Given the description of an element on the screen output the (x, y) to click on. 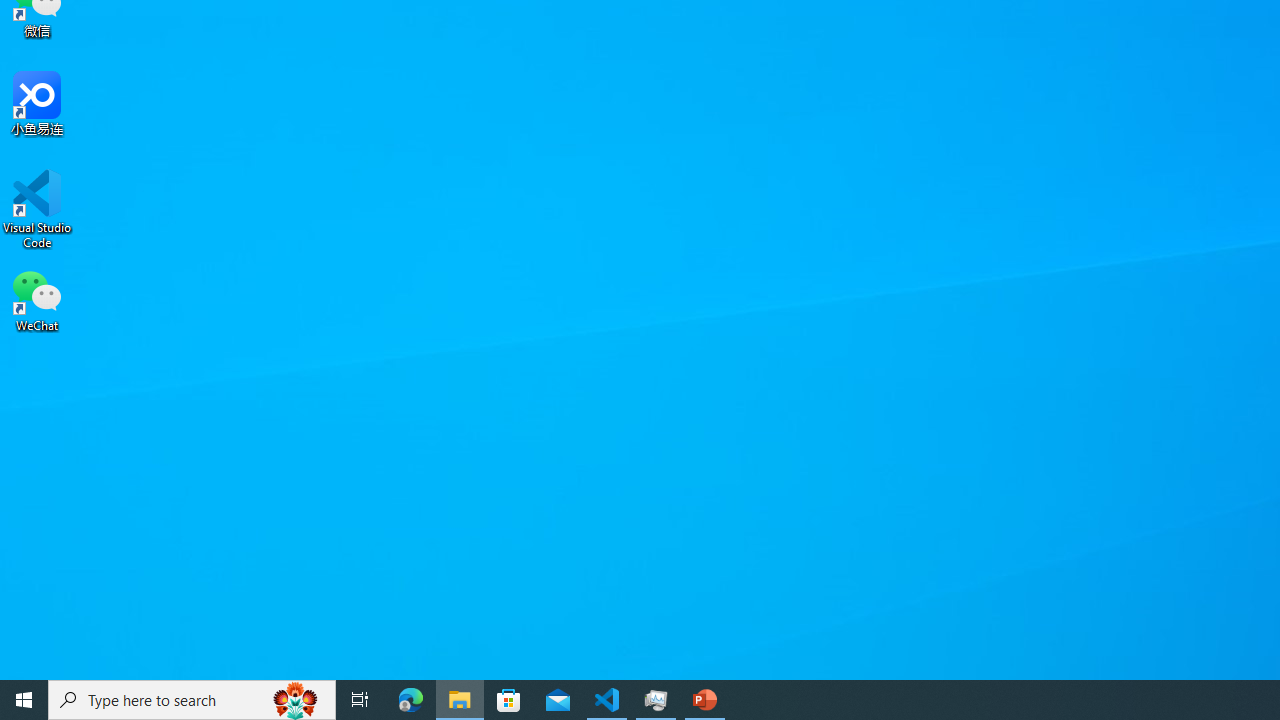
VMware Workstation Pro (57, 270)
PyCharm 2022.2 (287, 137)
test.py (287, 392)
auto.py (287, 526)
